Given the description of an element on the screen output the (x, y) to click on. 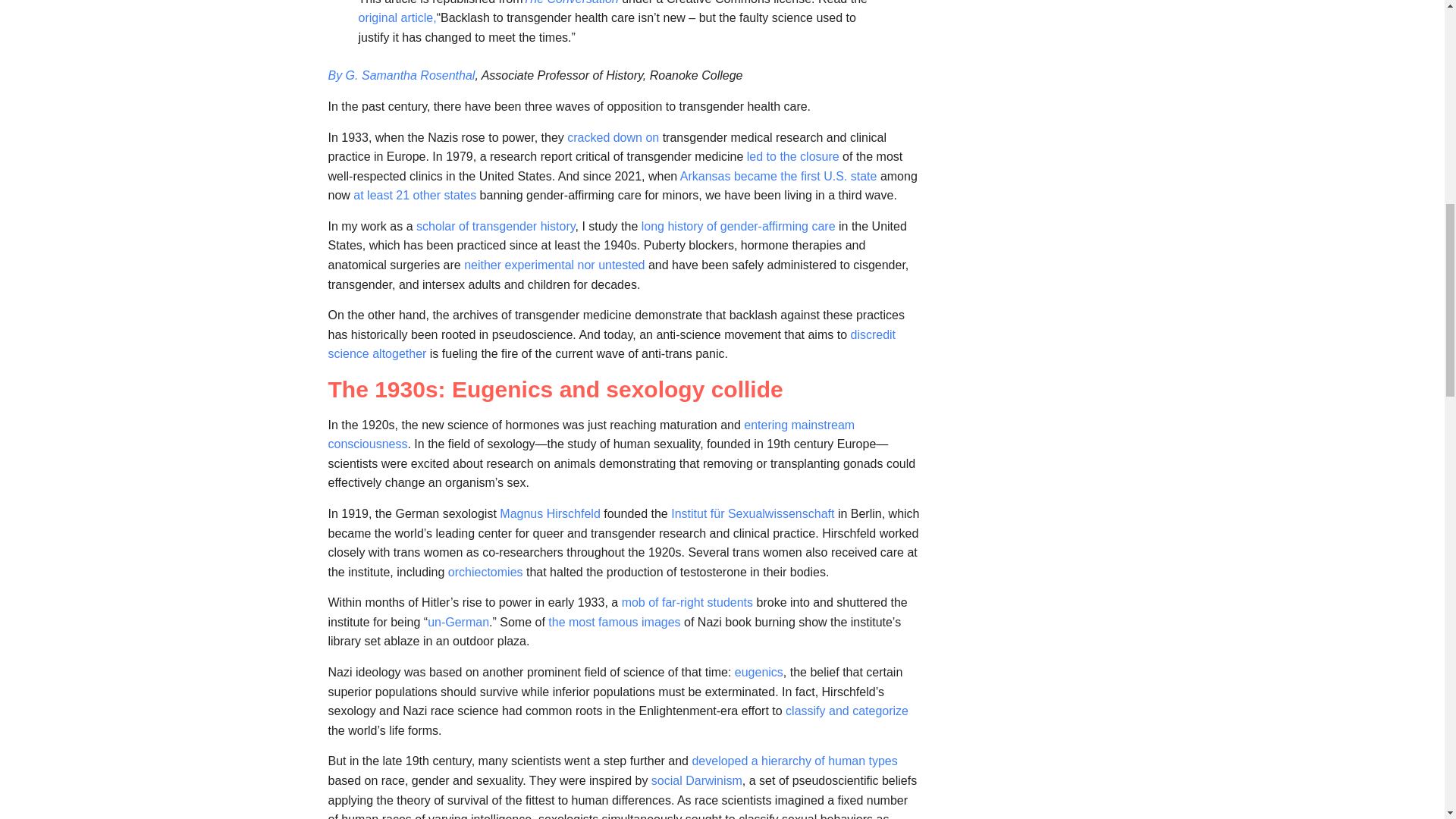
By G. Samantha Rosenthal (400, 74)
long history of gender-affirming care (738, 226)
scholar of transgender history (495, 226)
cracked down on (613, 136)
Arkansas became the first U.S. state (778, 175)
at least 21 other states (414, 195)
original article, (396, 17)
led to the closure (793, 155)
neither experimental nor untested (554, 264)
The Conversation (569, 2)
